Given the description of an element on the screen output the (x, y) to click on. 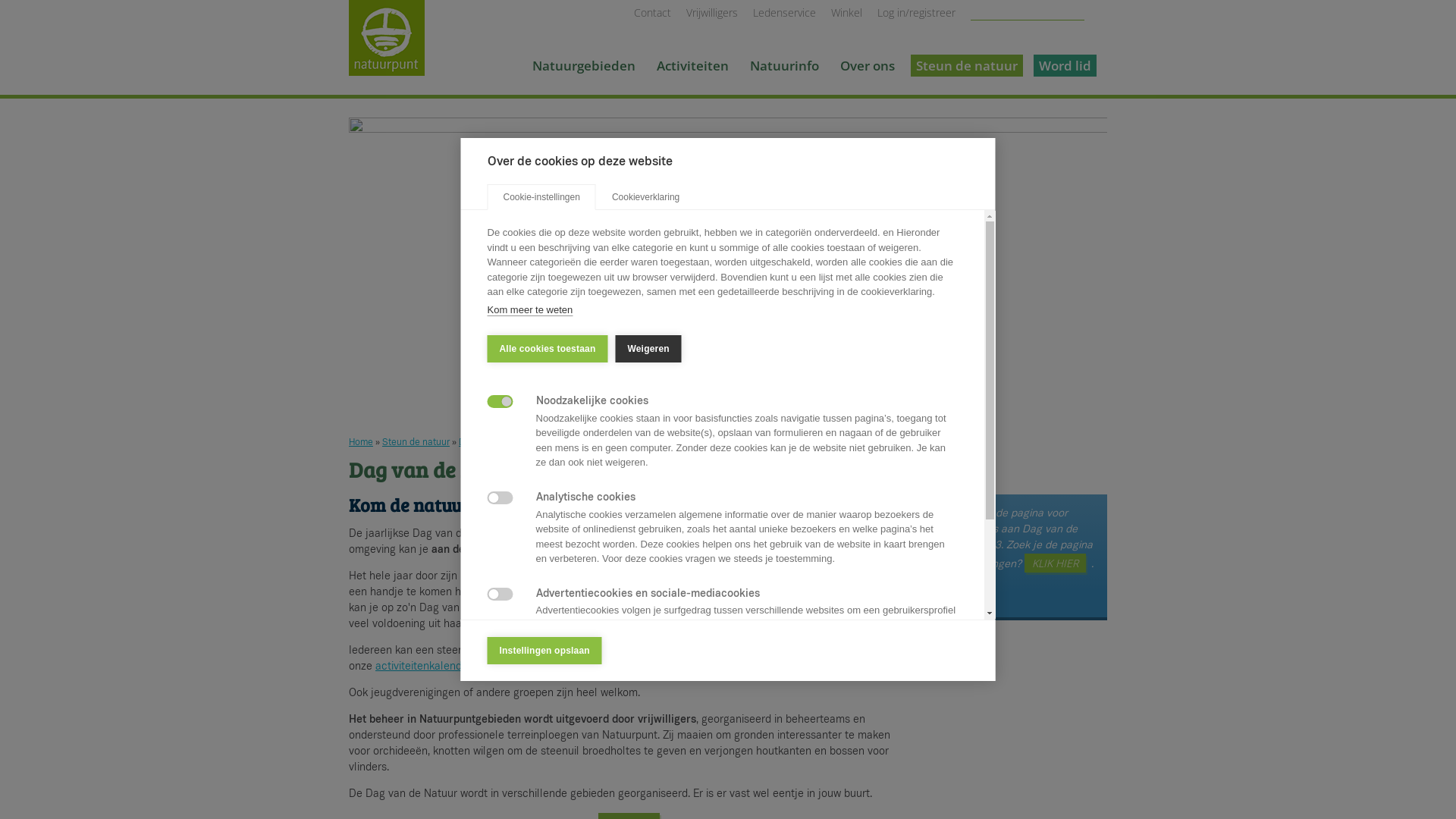
Ledenservice Element type: text (784, 12)
Cookie-instellingen Element type: text (540, 197)
Vrijwilligers Element type: text (711, 12)
Home Element type: hover (386, 7)
Contact Element type: text (652, 12)
Doe mee met onze campagnes Element type: text (522, 442)
Weigeren Element type: text (647, 348)
Activiteiten Element type: text (692, 65)
Natuurinfo Element type: text (784, 65)
KLIK HIER Element type: text (1054, 562)
Home Element type: text (360, 442)
Word lid Element type: text (1064, 65)
Dag van de Natuur 2023 Element type: hover (727, 268)
Cookieverklaring Element type: text (645, 197)
activiteitenkalender Element type: text (423, 666)
Steun de natuur Element type: text (966, 65)
Natuurgebieden Element type: text (583, 65)
Log in/registreer Element type: text (916, 12)
Winkel Element type: text (846, 12)
Kom meer te weten Element type: text (529, 309)
Alle cookies toestaan Element type: text (546, 348)
Overslaan en naar de inhoud gaan Element type: text (83, 0)
Zoeken Element type: text (1099, 14)
Over ons Element type: text (867, 65)
Instellingen opslaan Element type: text (543, 650)
Steun de natuur Element type: text (415, 442)
